Given the description of an element on the screen output the (x, y) to click on. 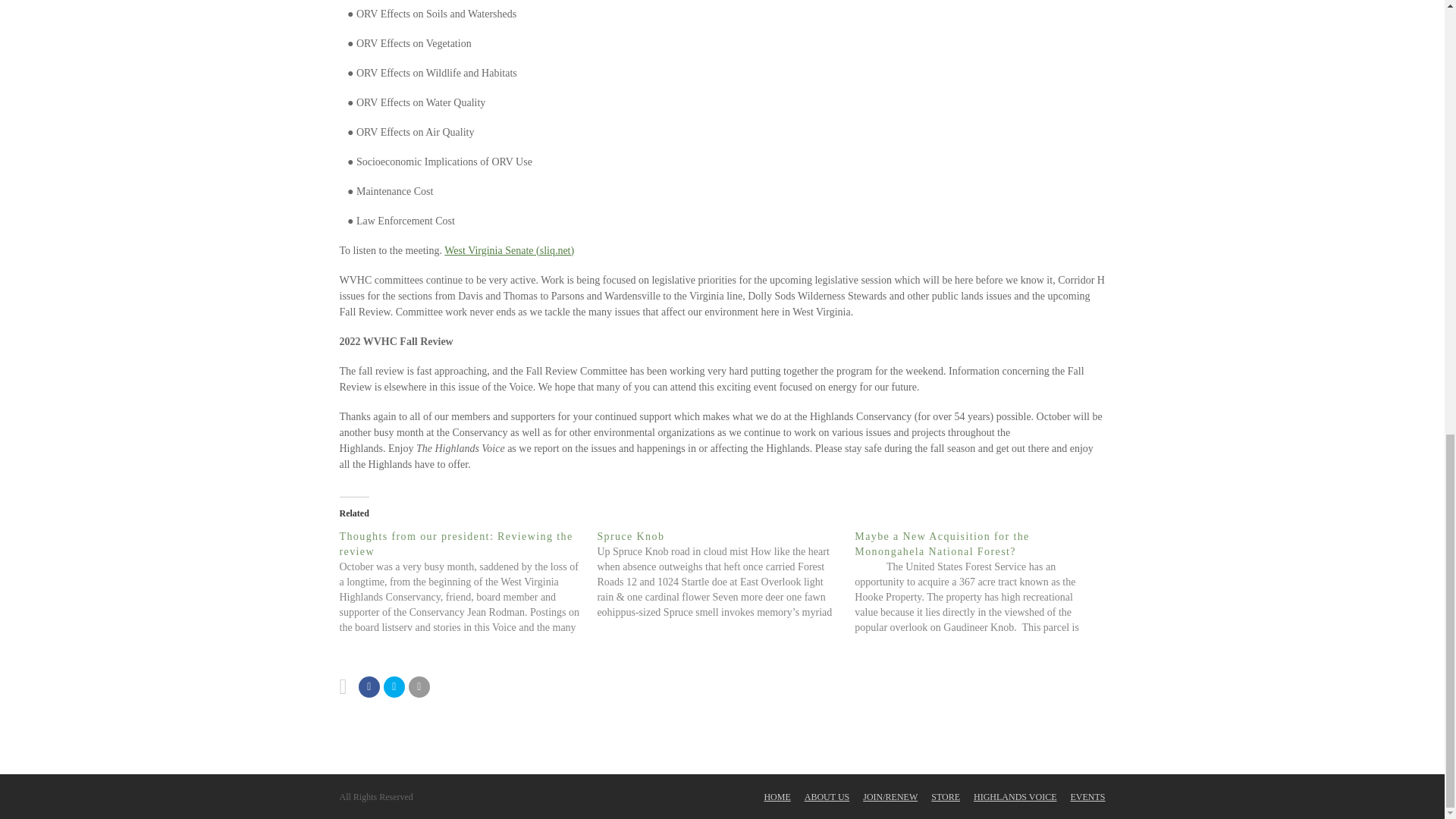
Email (419, 685)
Thoughts from our president: Reviewing the review (467, 581)
Thoughts from our president: Reviewing the review (456, 542)
Spruce Knob (629, 535)
Spruce Knob (725, 573)
Tweet (394, 685)
Thoughts from our president: Reviewing the review (456, 542)
Share on Facebook (369, 685)
